Given the description of an element on the screen output the (x, y) to click on. 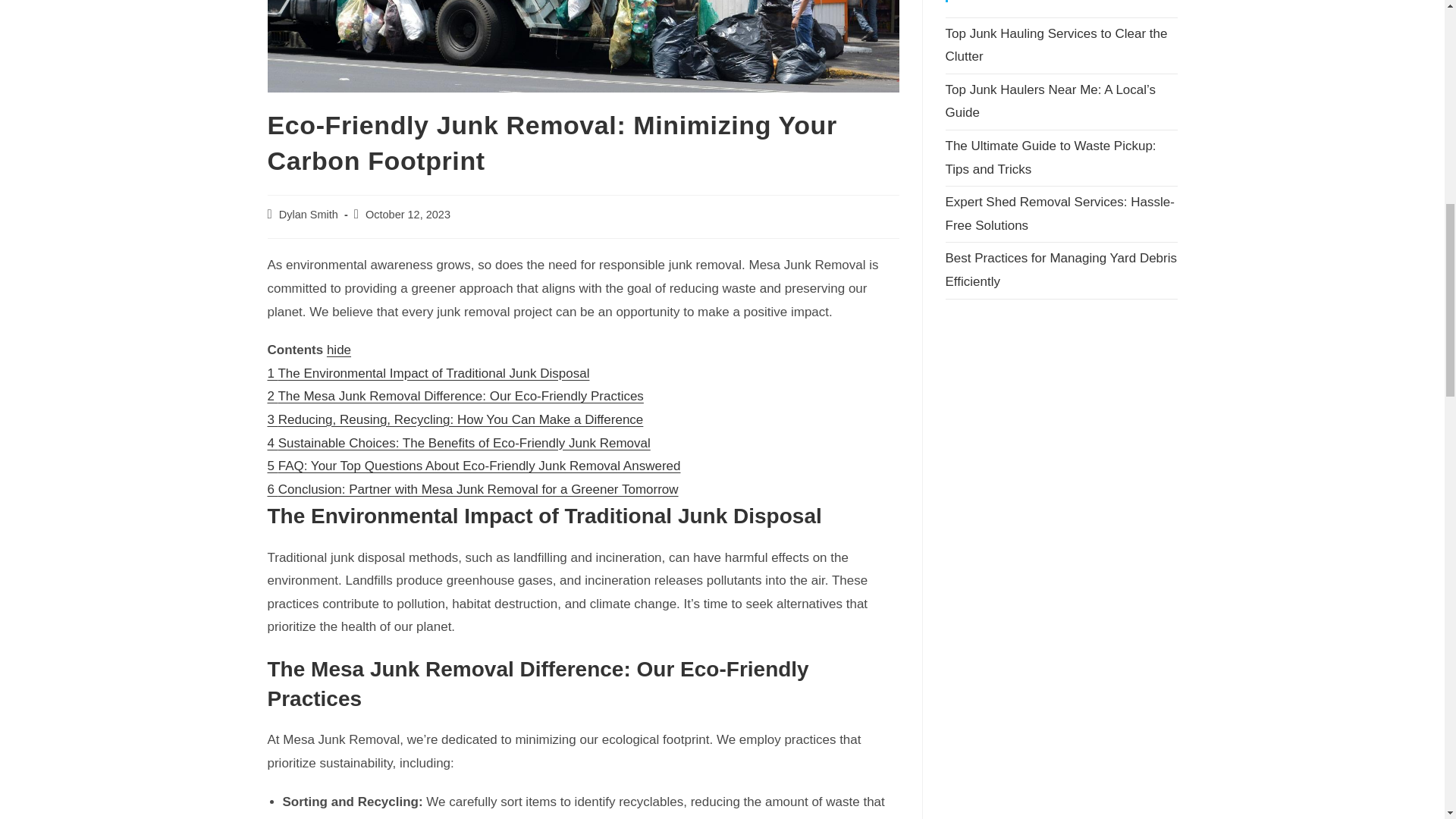
Posts by Dylan Smith (308, 214)
